Given the description of an element on the screen output the (x, y) to click on. 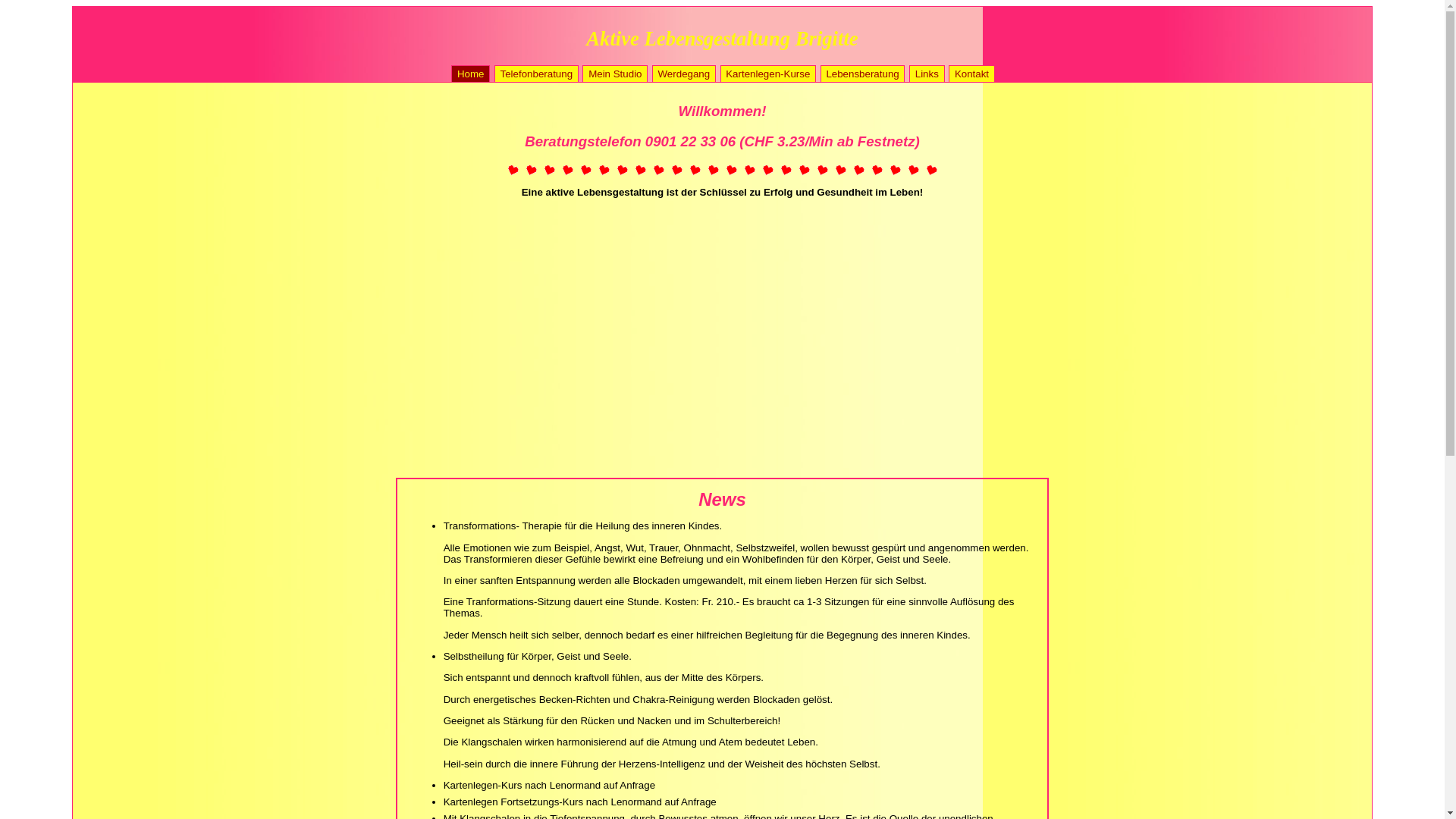
Home Element type: text (470, 73)
Kartenlegen-Kurse Element type: text (767, 73)
Werdegang Element type: text (683, 73)
Mein Studio Element type: text (614, 73)
Lebensberatung Element type: text (862, 73)
Kontakt Element type: text (971, 73)
Links Element type: text (926, 73)
Telefonberatung Element type: text (536, 73)
